Given the description of an element on the screen output the (x, y) to click on. 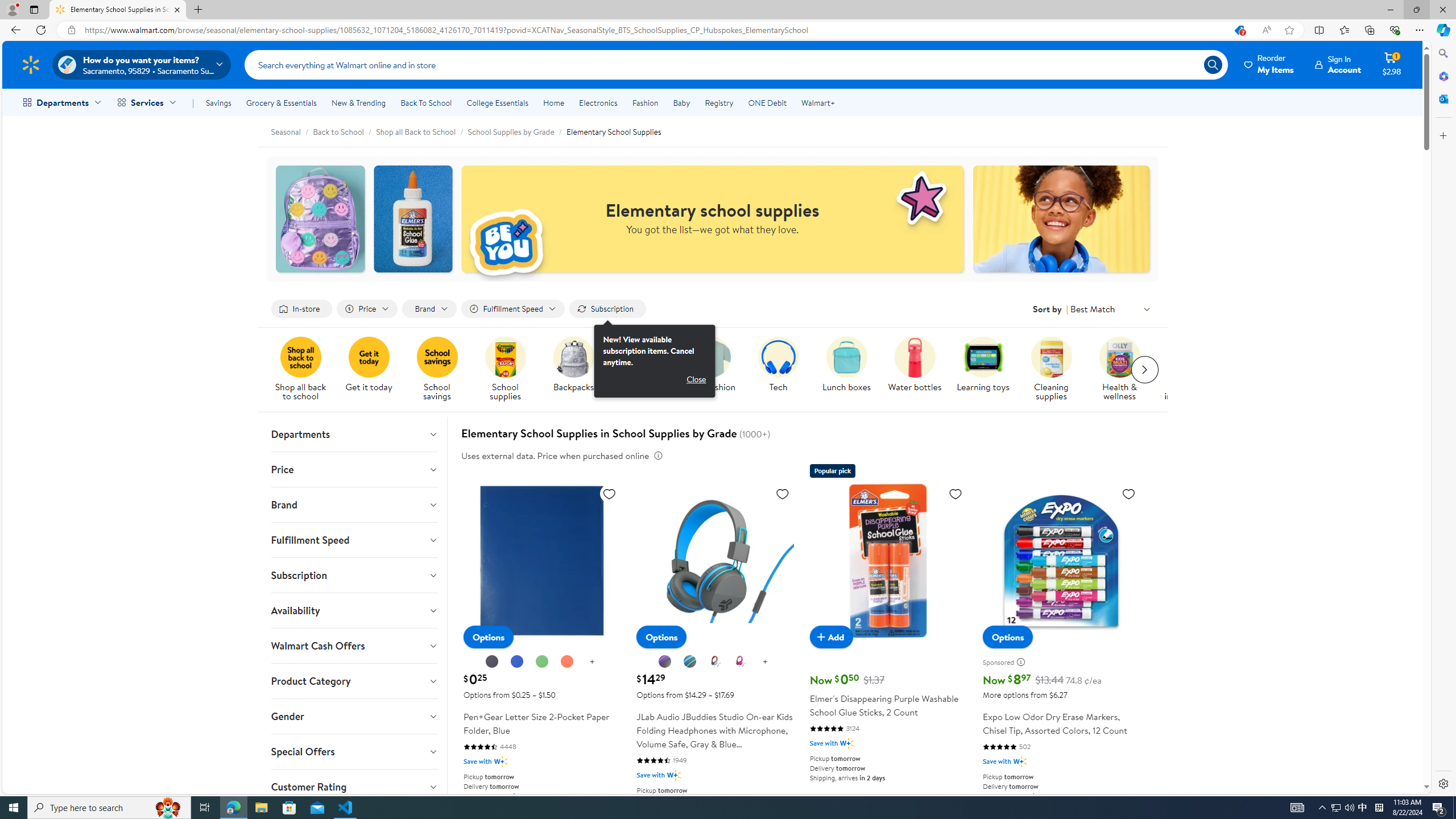
Customer Rating (354, 787)
Black (491, 661)
Backpacks (577, 369)
Walmart Homepage (30, 64)
Filter by In-store (301, 308)
Baby (681, 102)
Fashion (644, 102)
School supplies School supplies (505, 369)
School supplies (510, 369)
Musical instruments (1192, 369)
